Given the description of an element on the screen output the (x, y) to click on. 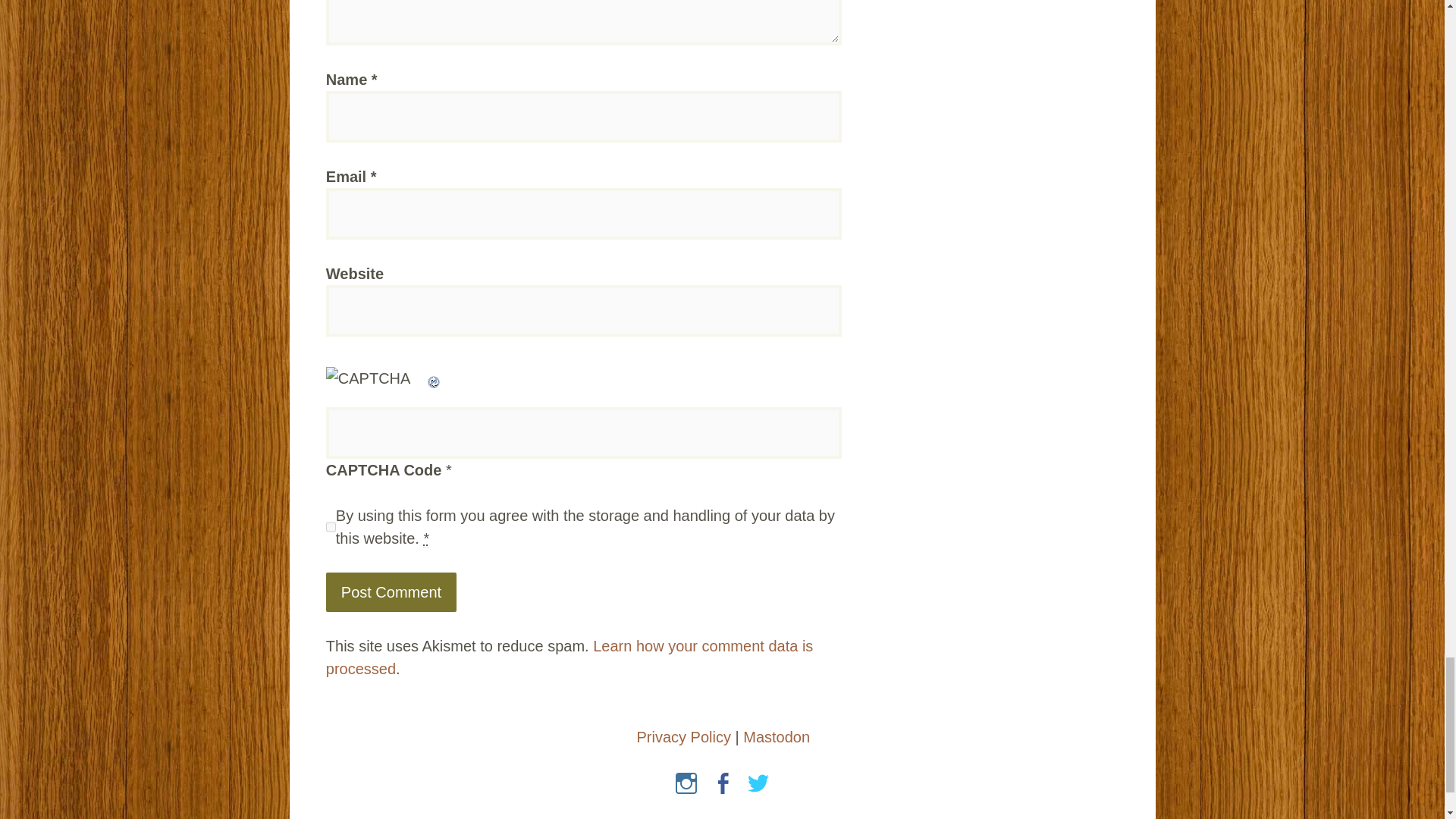
CAPTCHA (376, 382)
Post Comment (391, 591)
Refresh (434, 378)
